Given the description of an element on the screen output the (x, y) to click on. 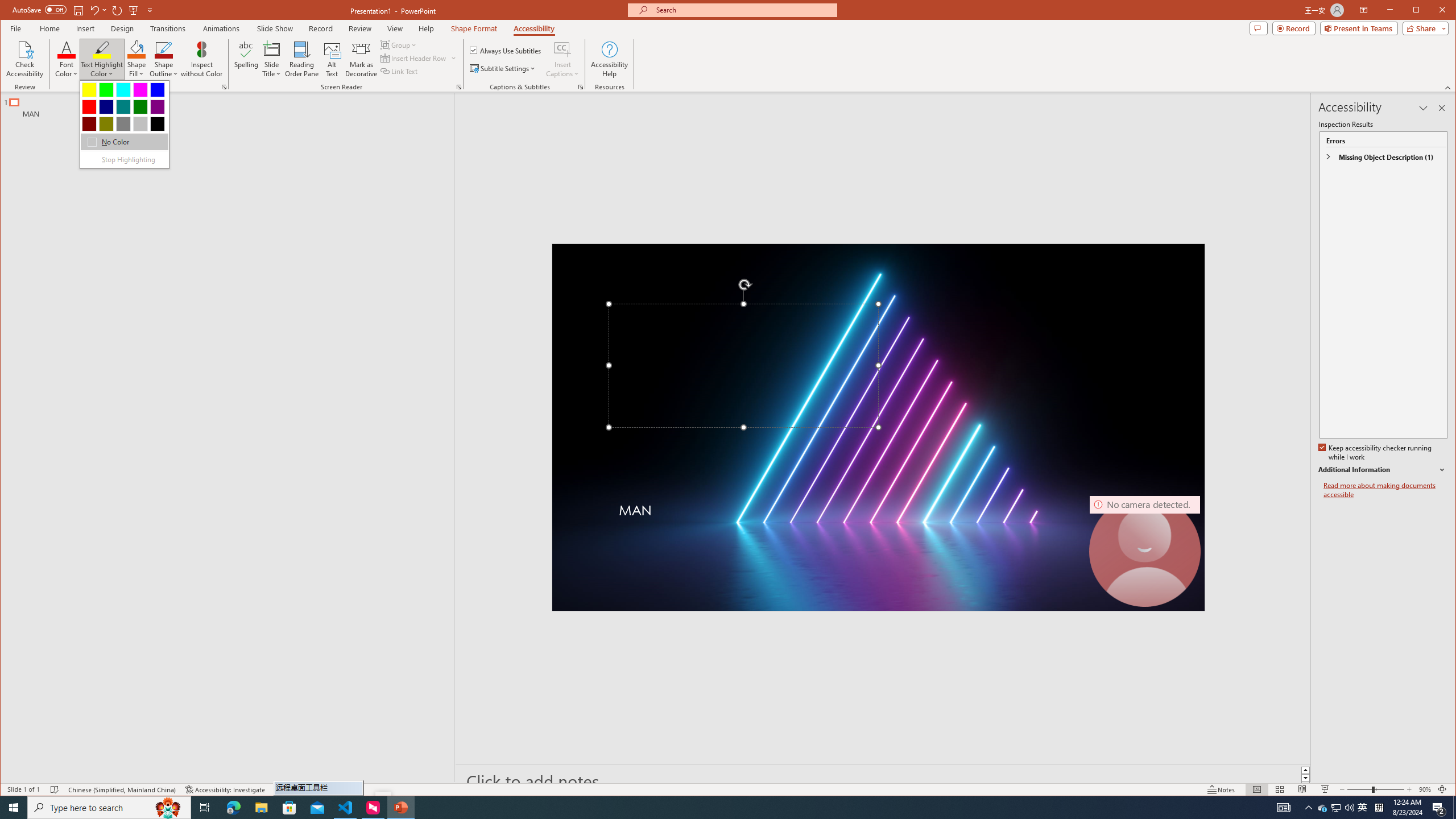
Reading Order Pane (301, 59)
Insert Captions (562, 59)
